Given the description of an element on the screen output the (x, y) to click on. 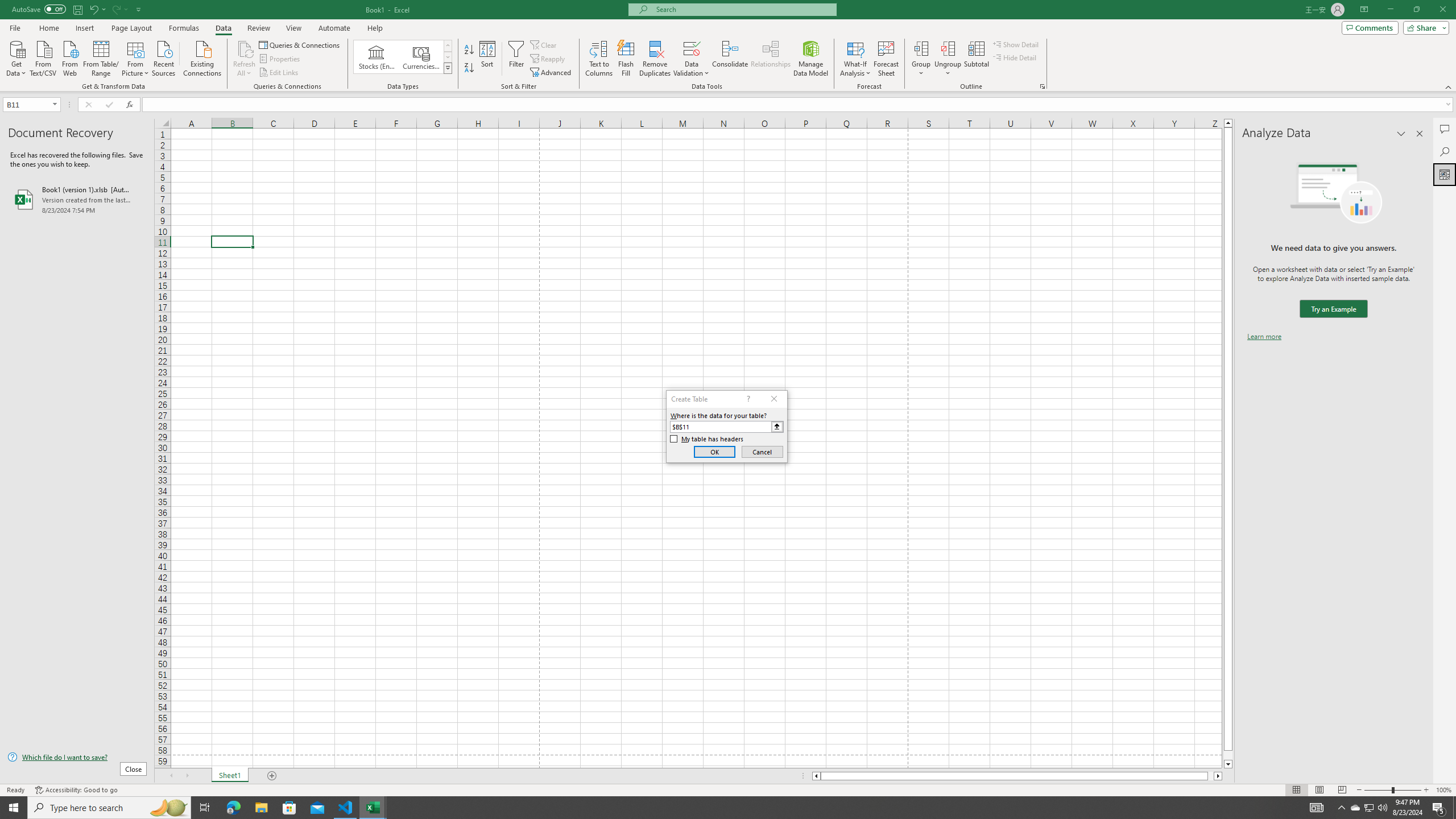
Refresh All (244, 48)
Quick Access Toolbar (77, 9)
Sheet1 (229, 775)
Class: MsoCommandBar (728, 45)
Comments (1444, 128)
Consolidate... (729, 58)
Line down (1228, 764)
Open (54, 104)
Formulas (184, 28)
Clear (544, 44)
Redo (119, 9)
Sort A to Z (469, 49)
Customize Quick Access Toolbar (139, 9)
More Options (947, 68)
Formula Bar (799, 104)
